Given the description of an element on the screen output the (x, y) to click on. 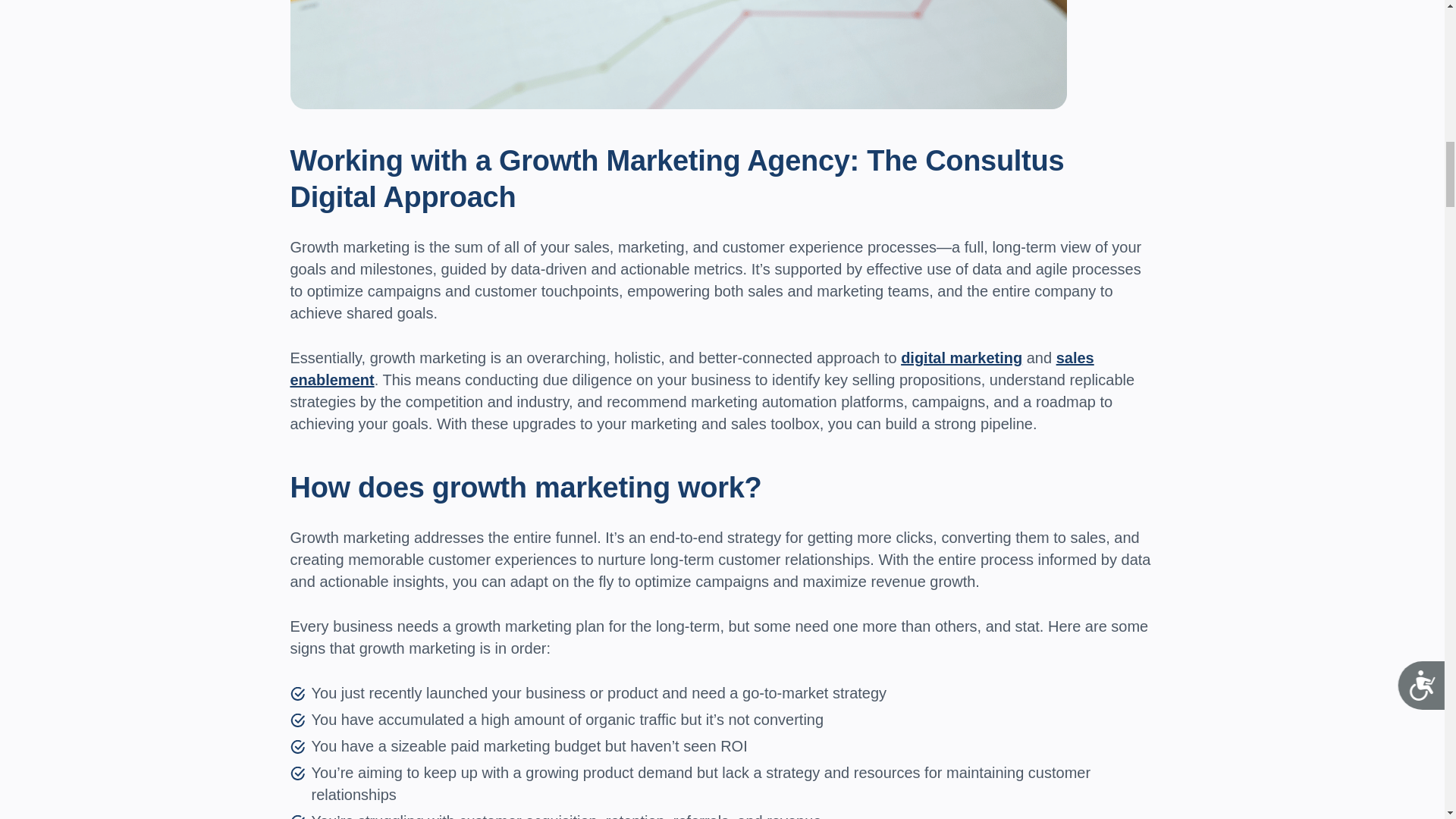
Growth-marketing-chart-consultus-digital (677, 54)
